Given the description of an element on the screen output the (x, y) to click on. 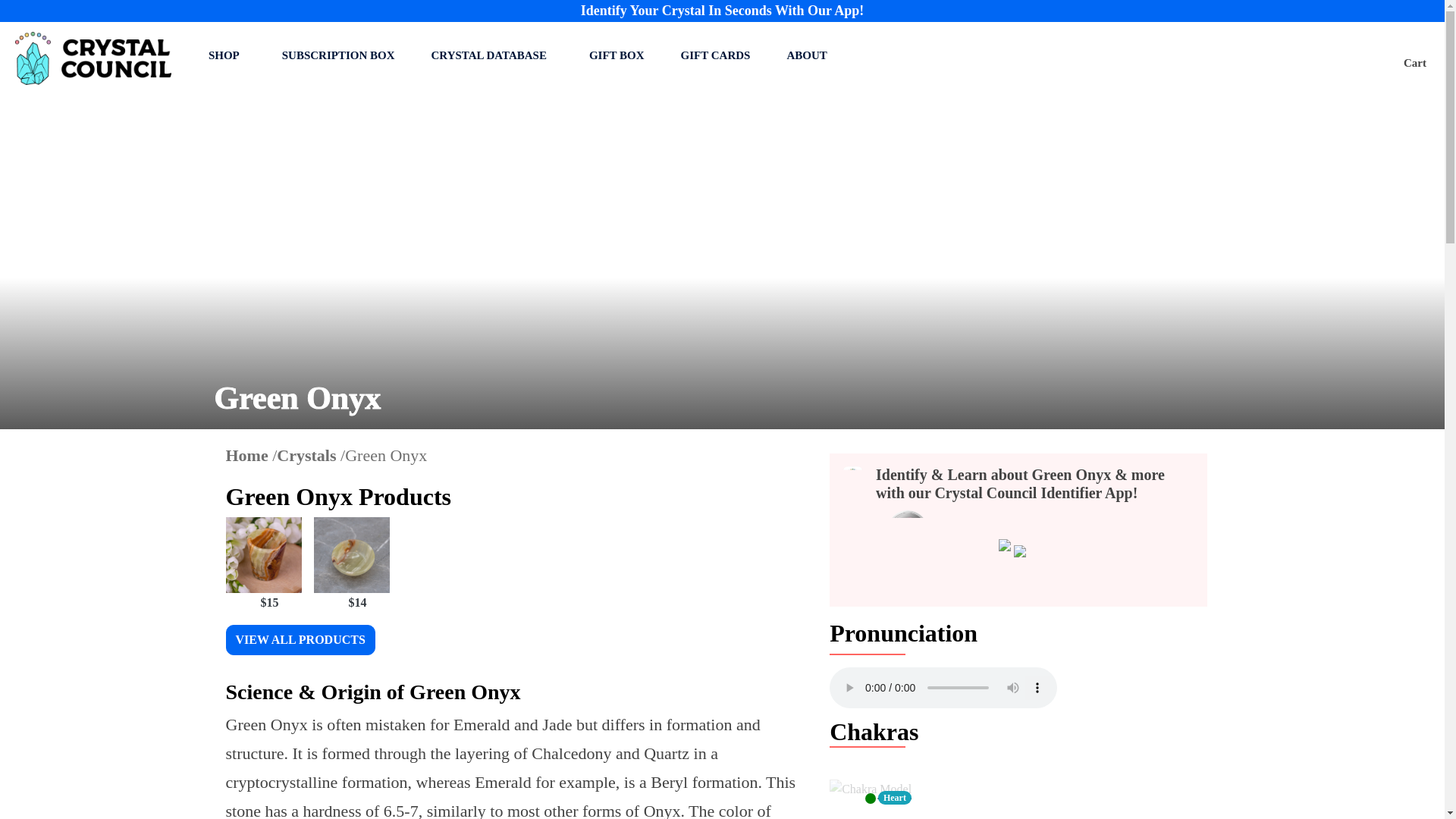
GIFT BOX (616, 56)
ABOUT (809, 56)
Identify Your Crystal In Seconds With Our App! (722, 10)
GIFT CARDS (716, 56)
SHOP (226, 56)
SUBSCRIPTION BOX (338, 56)
CRYSTAL DATABASE (492, 56)
